Given the description of an element on the screen output the (x, y) to click on. 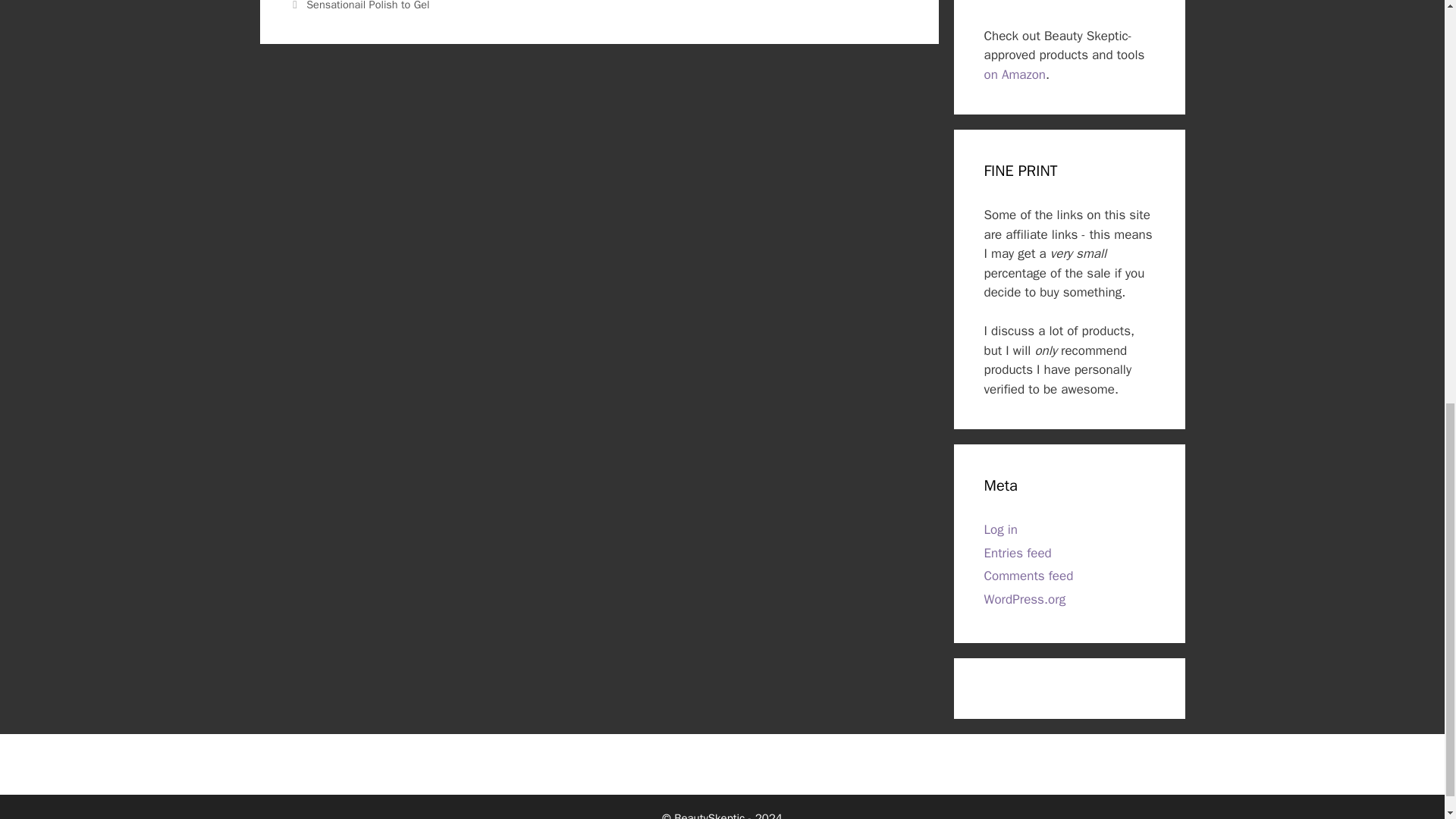
Entries feed (1017, 553)
Sensationail Polish to Gel (367, 5)
WordPress.org (1024, 599)
on Amazon (1015, 74)
Log in (1000, 529)
Comments feed (1029, 575)
